Given the description of an element on the screen output the (x, y) to click on. 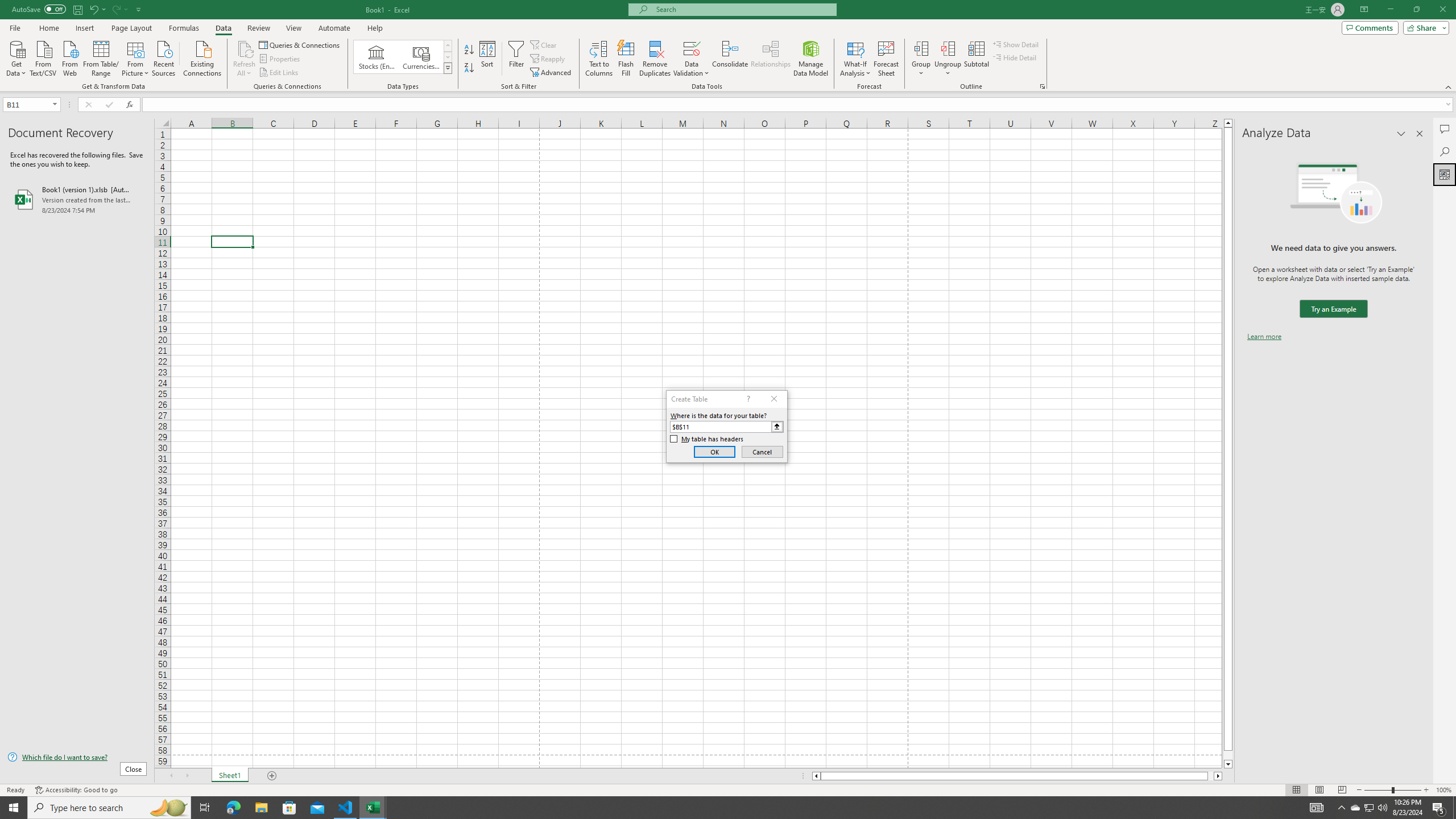
We need data to give you answers. Try an Example (1333, 308)
